Given the description of an element on the screen output the (x, y) to click on. 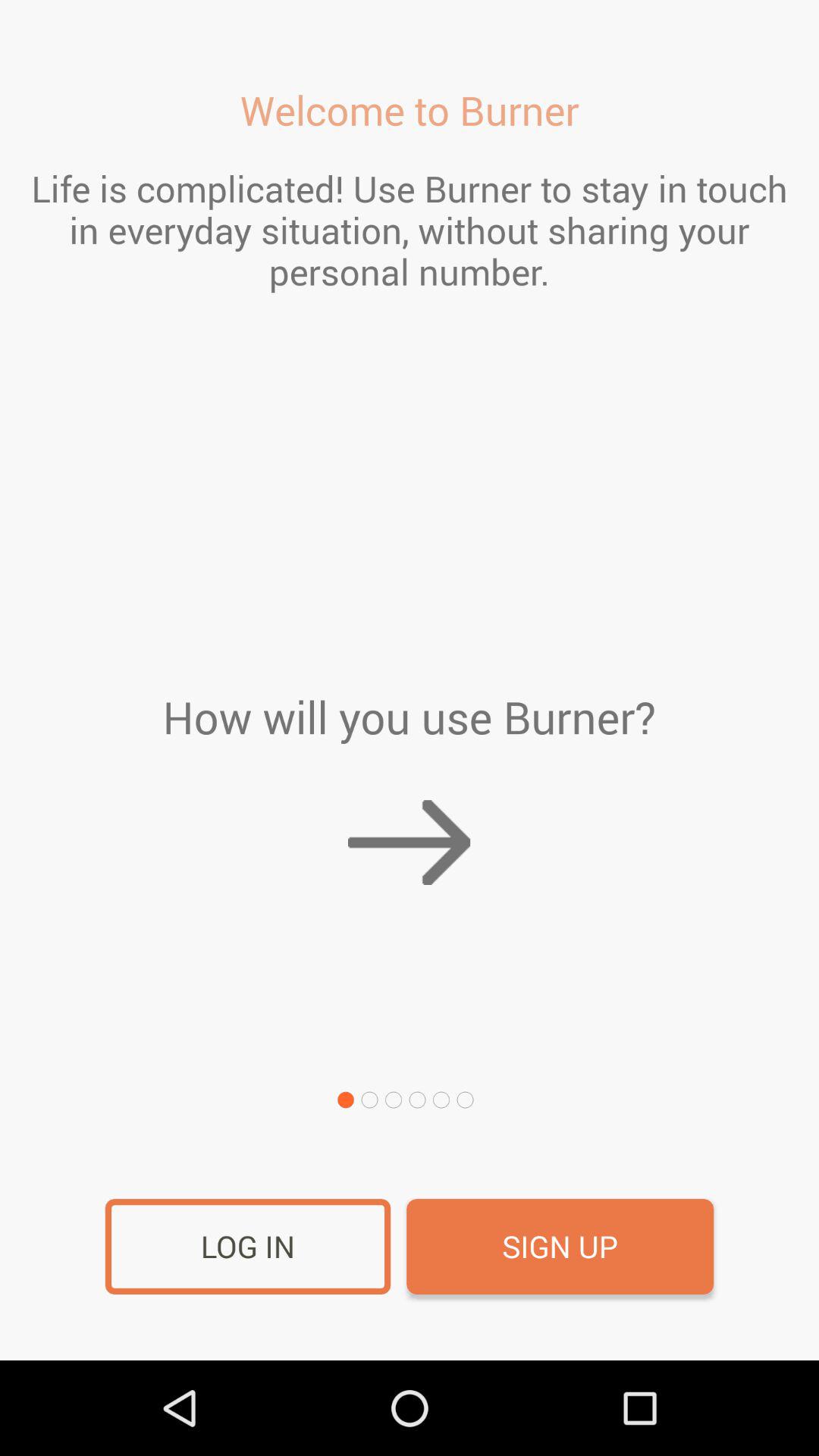
click icon next to log in (559, 1246)
